Given the description of an element on the screen output the (x, y) to click on. 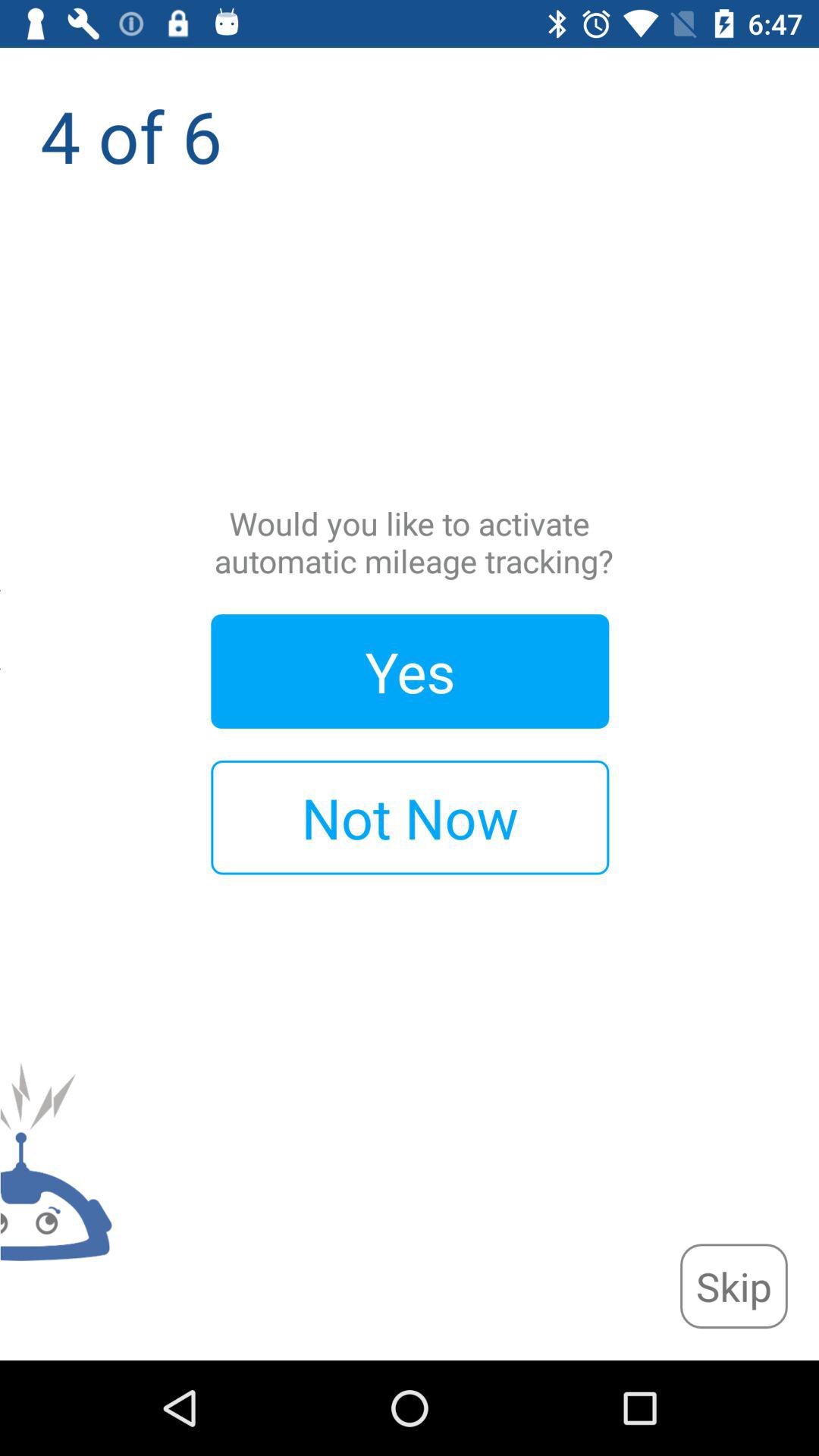
click the icon below the yes icon (409, 817)
